Given the description of an element on the screen output the (x, y) to click on. 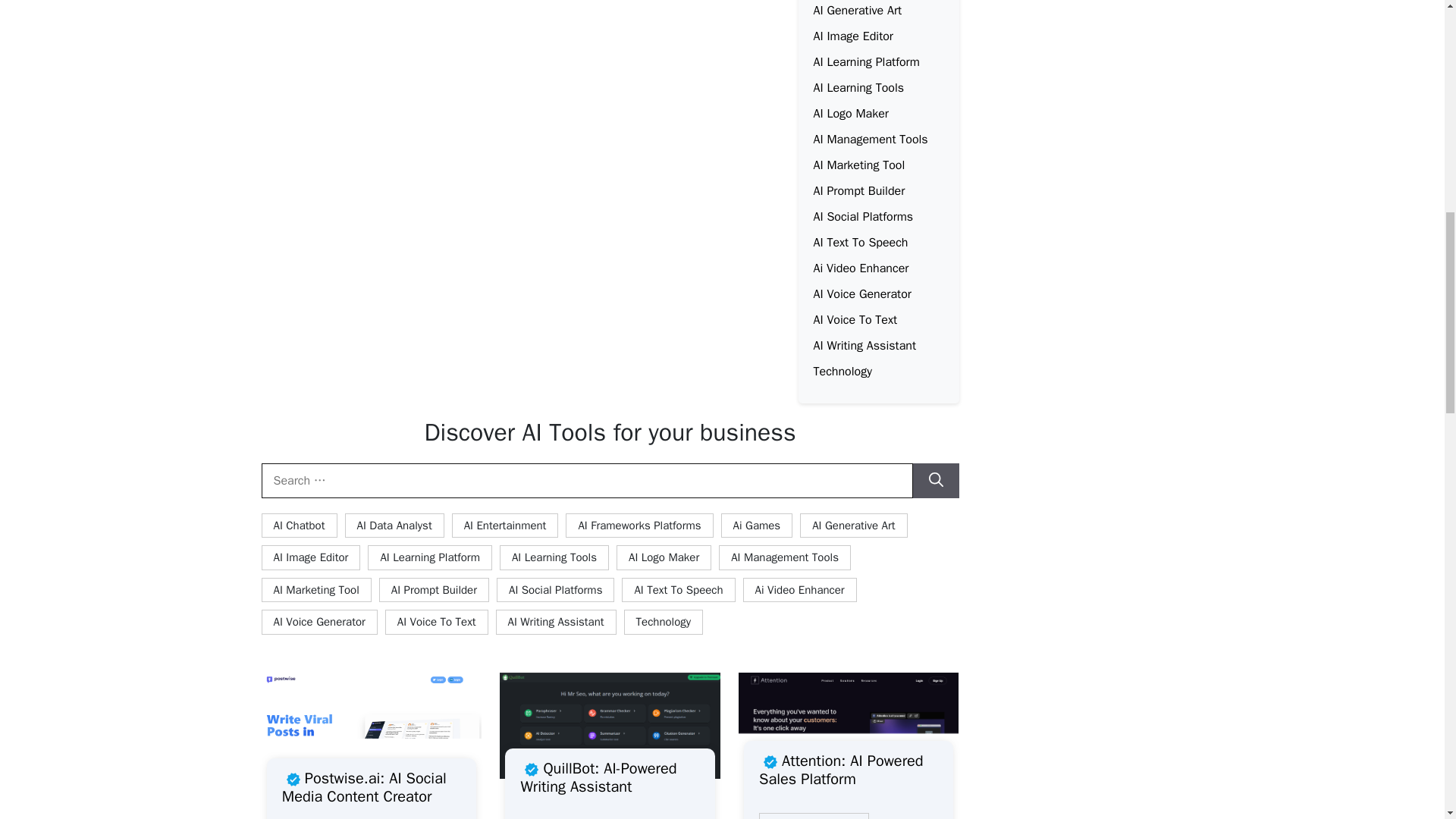
AI Social Platforms (862, 216)
AI Writing Assistant (863, 345)
AI Text To Speech (859, 242)
AI Prompt Builder (858, 191)
AI Image Editor (852, 36)
AI Marketing Tool (858, 165)
AI Generative Art (856, 10)
AI Learning Platform (865, 61)
AI Voice Generator (861, 294)
Postwise.ai: AI Social Media Content Creator (371, 787)
